Given the description of an element on the screen output the (x, y) to click on. 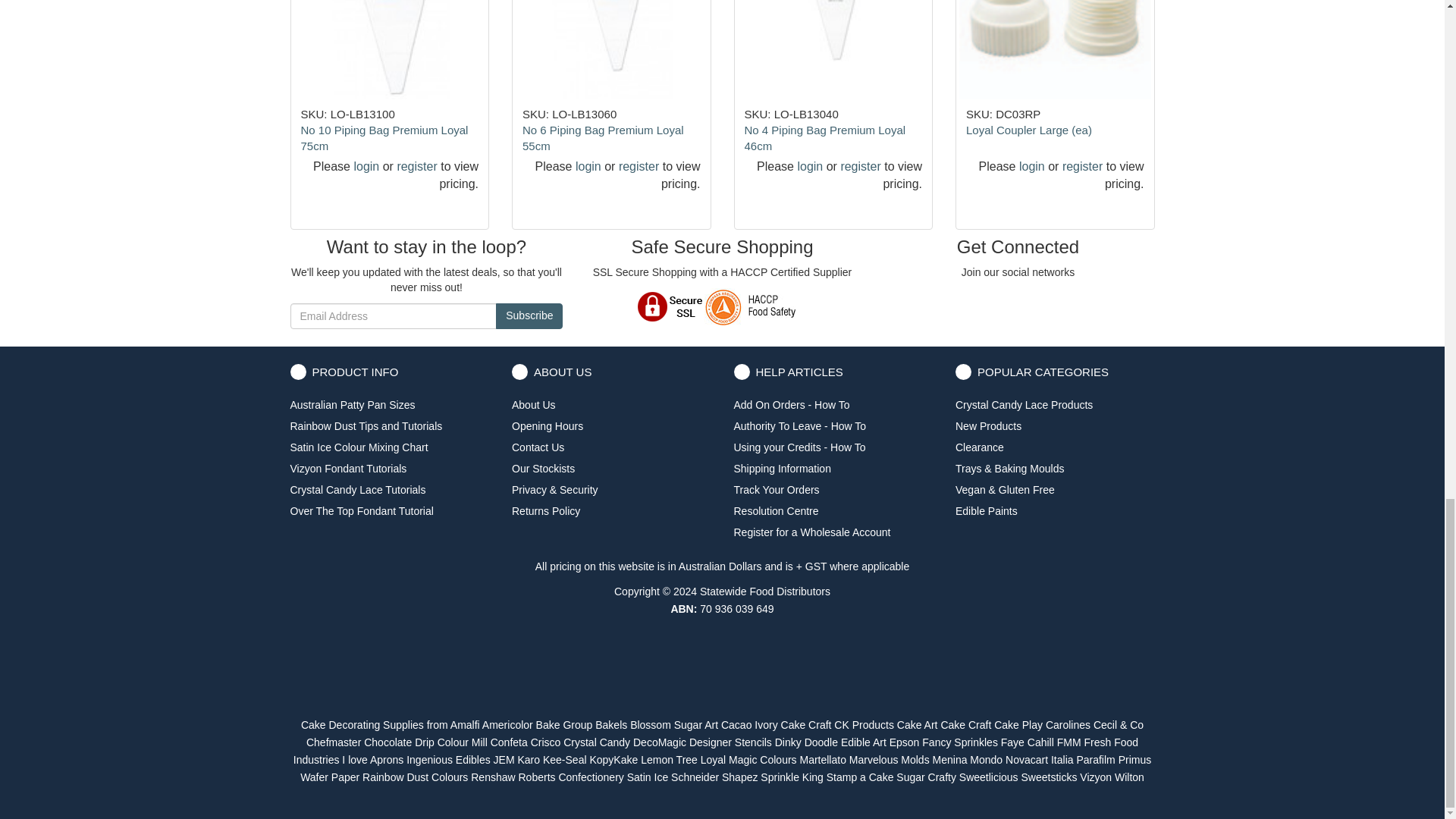
Subscribe (529, 316)
No 4 Piping Bag Premium Loyal 46cm (824, 137)
No 10 Piping Bag Premium Loyal 75cm (383, 137)
No 6 Piping Bag Premium Loyal 55cm (603, 137)
